Given the description of an element on the screen output the (x, y) to click on. 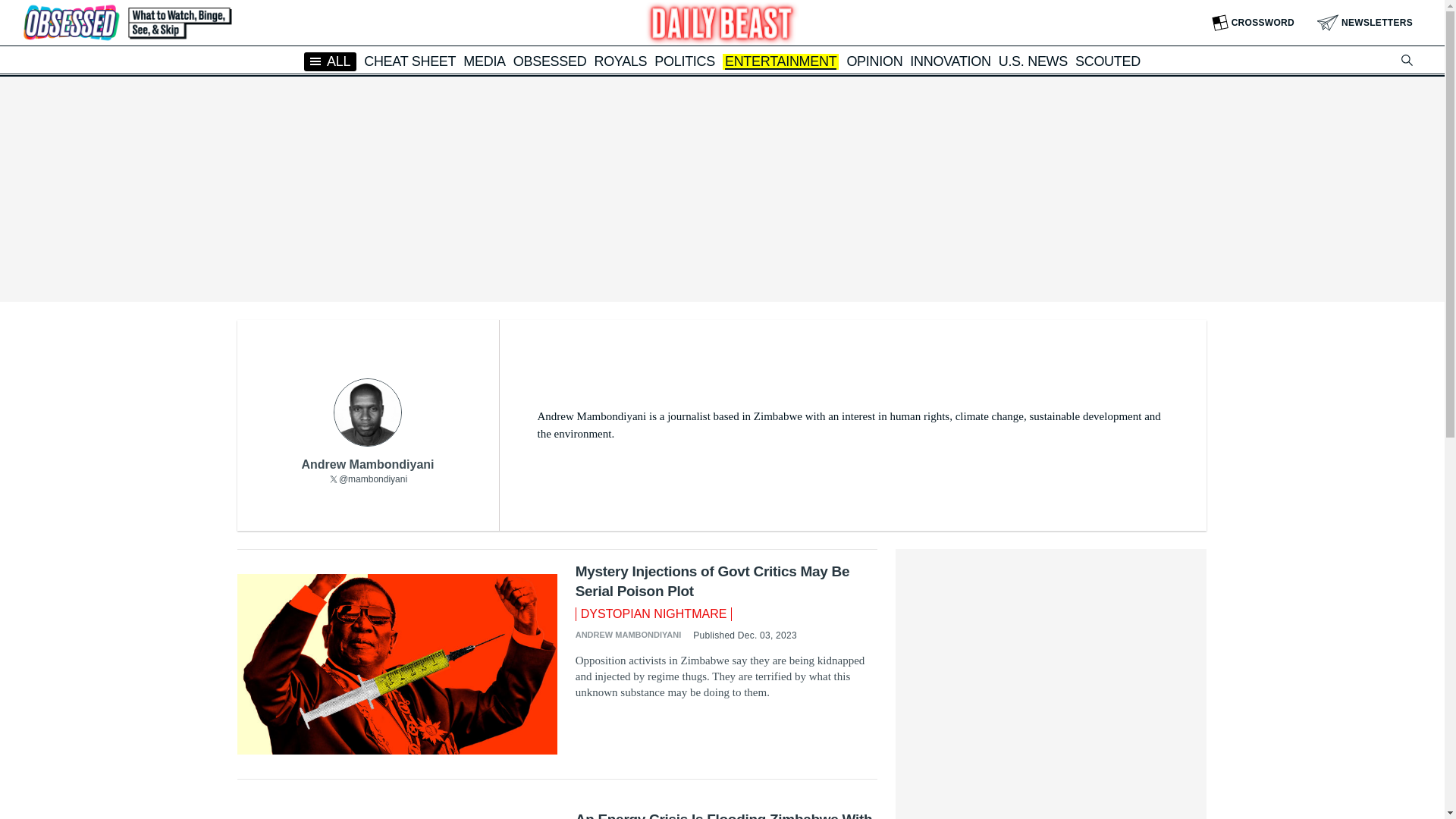
OBSESSED (549, 60)
ALL (330, 60)
MEDIA (484, 60)
NEWSLETTERS (1364, 22)
ROYALS (620, 60)
SCOUTED (1107, 60)
U.S. NEWS (1032, 60)
OPINION (873, 60)
CHEAT SHEET (409, 60)
ENTERTAINMENT (780, 61)
